Given the description of an element on the screen output the (x, y) to click on. 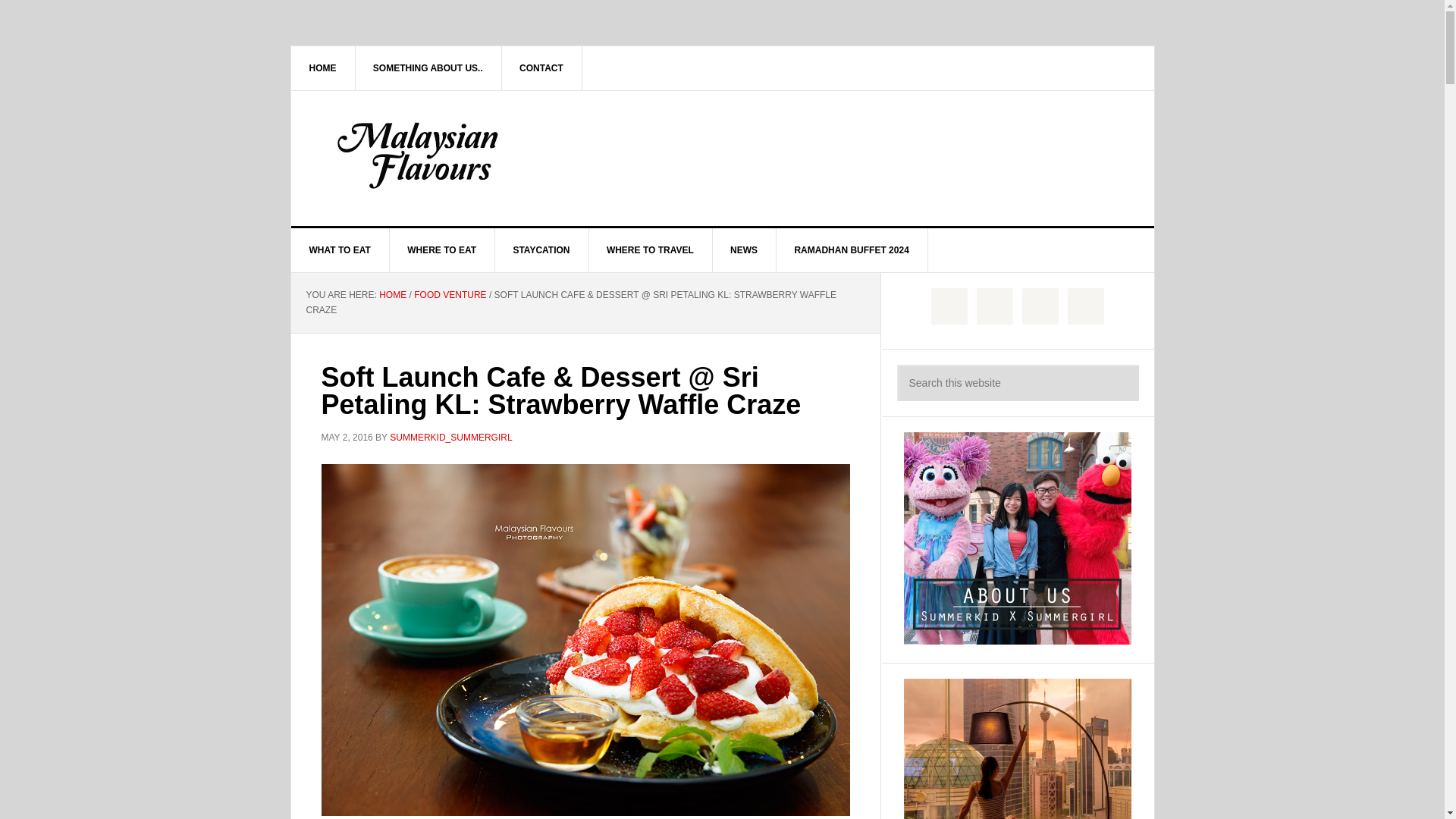
Advertisement (835, 155)
news (743, 249)
MALAYSIAN FLAVOURS (419, 155)
SOMETHING ABOUT US.. (428, 67)
HOME (323, 67)
WHERE TO EAT (441, 249)
CONTACT (541, 67)
WHAT TO EAT (340, 249)
Ramadhan Buffet (851, 249)
